Given the description of an element on the screen output the (x, y) to click on. 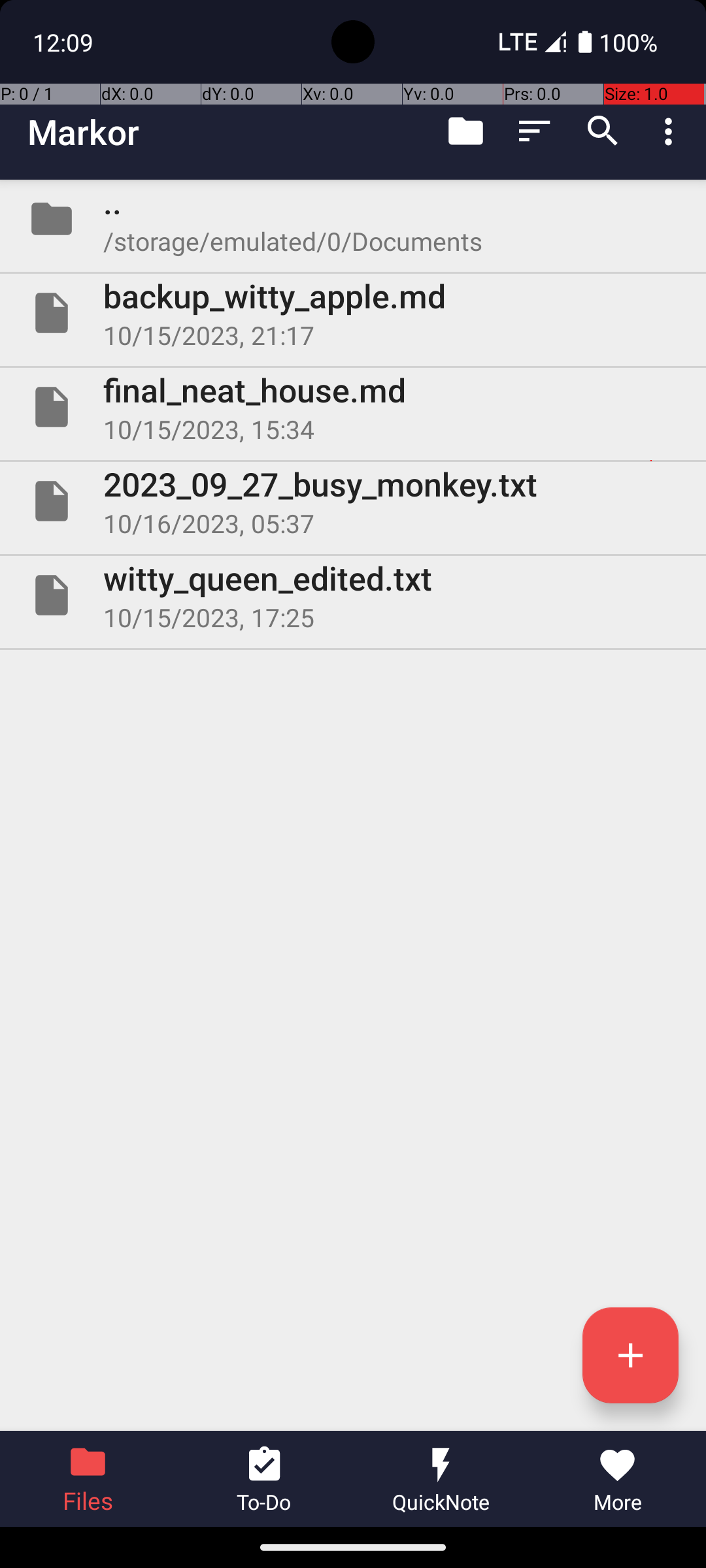
File backup_witty_apple.md  Element type: android.widget.LinearLayout (353, 312)
File final_neat_house.md  Element type: android.widget.LinearLayout (353, 406)
File 2023_09_27_busy_monkey.txt  Element type: android.widget.LinearLayout (353, 500)
File witty_queen_edited.txt  Element type: android.widget.LinearLayout (353, 594)
12:09 Element type: android.widget.TextView (64, 41)
